Given the description of an element on the screen output the (x, y) to click on. 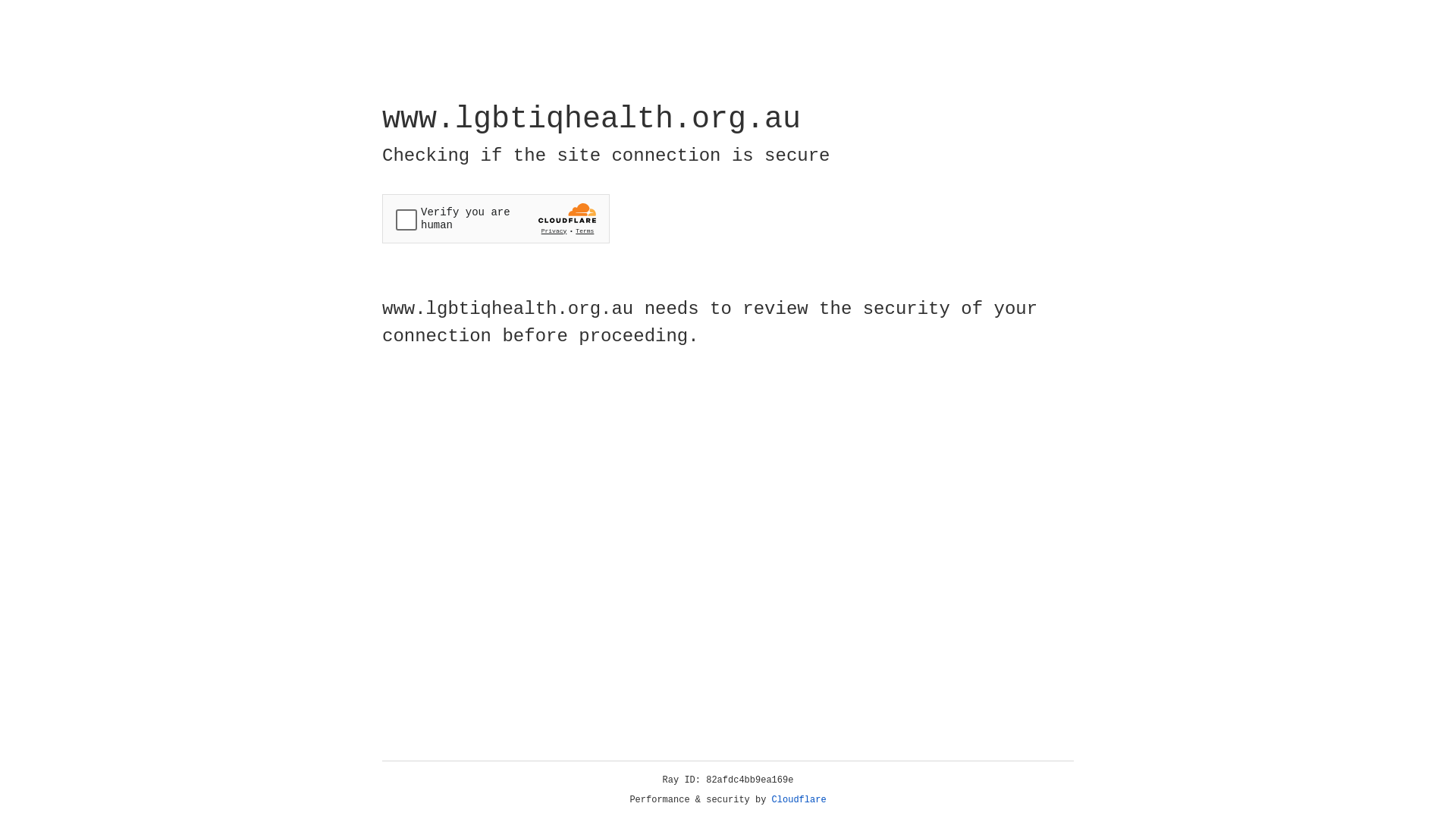
Cloudflare Element type: text (798, 799)
Widget containing a Cloudflare security challenge Element type: hover (495, 218)
